Given the description of an element on the screen output the (x, y) to click on. 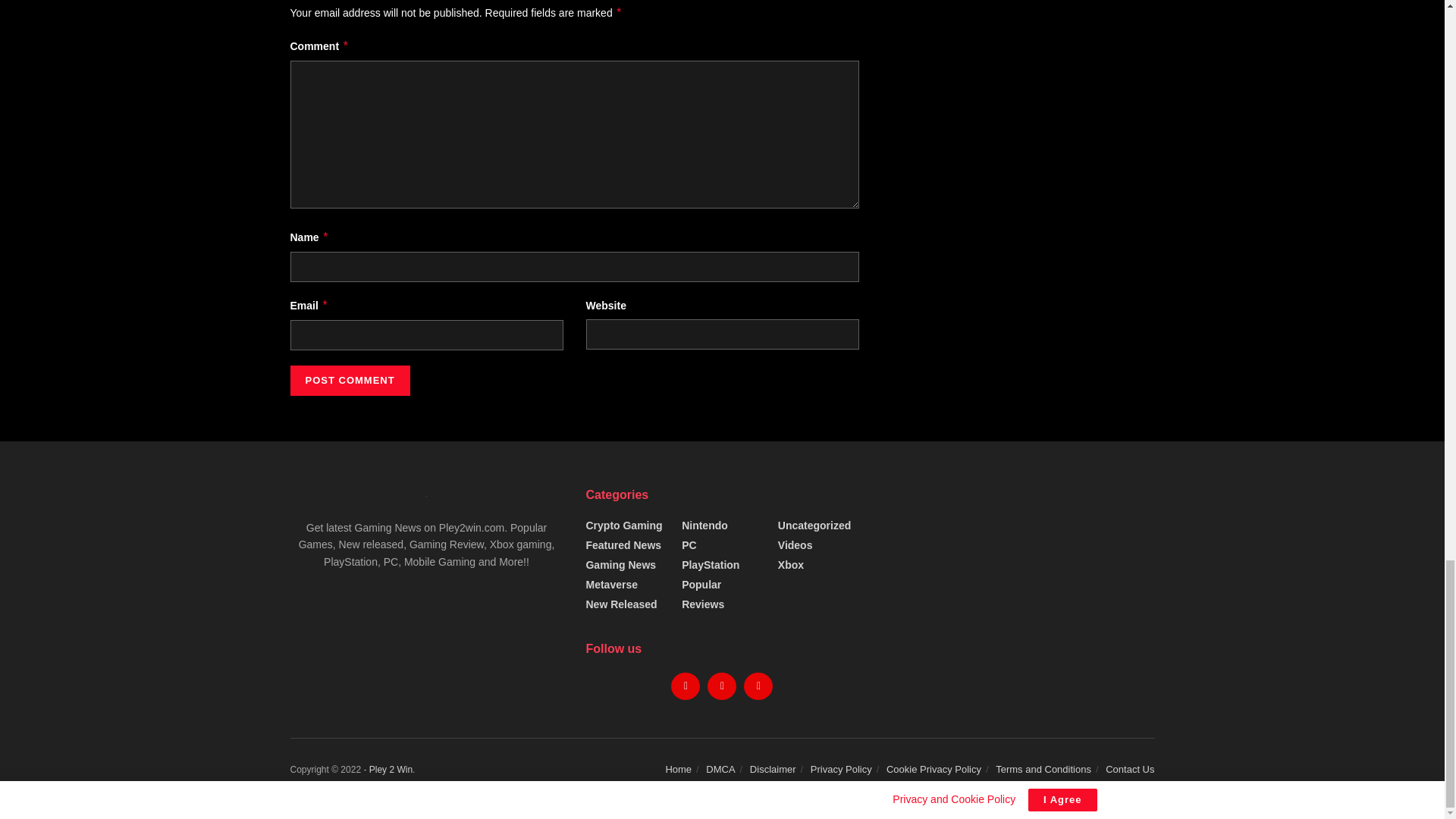
Post Comment (349, 380)
